Given the description of an element on the screen output the (x, y) to click on. 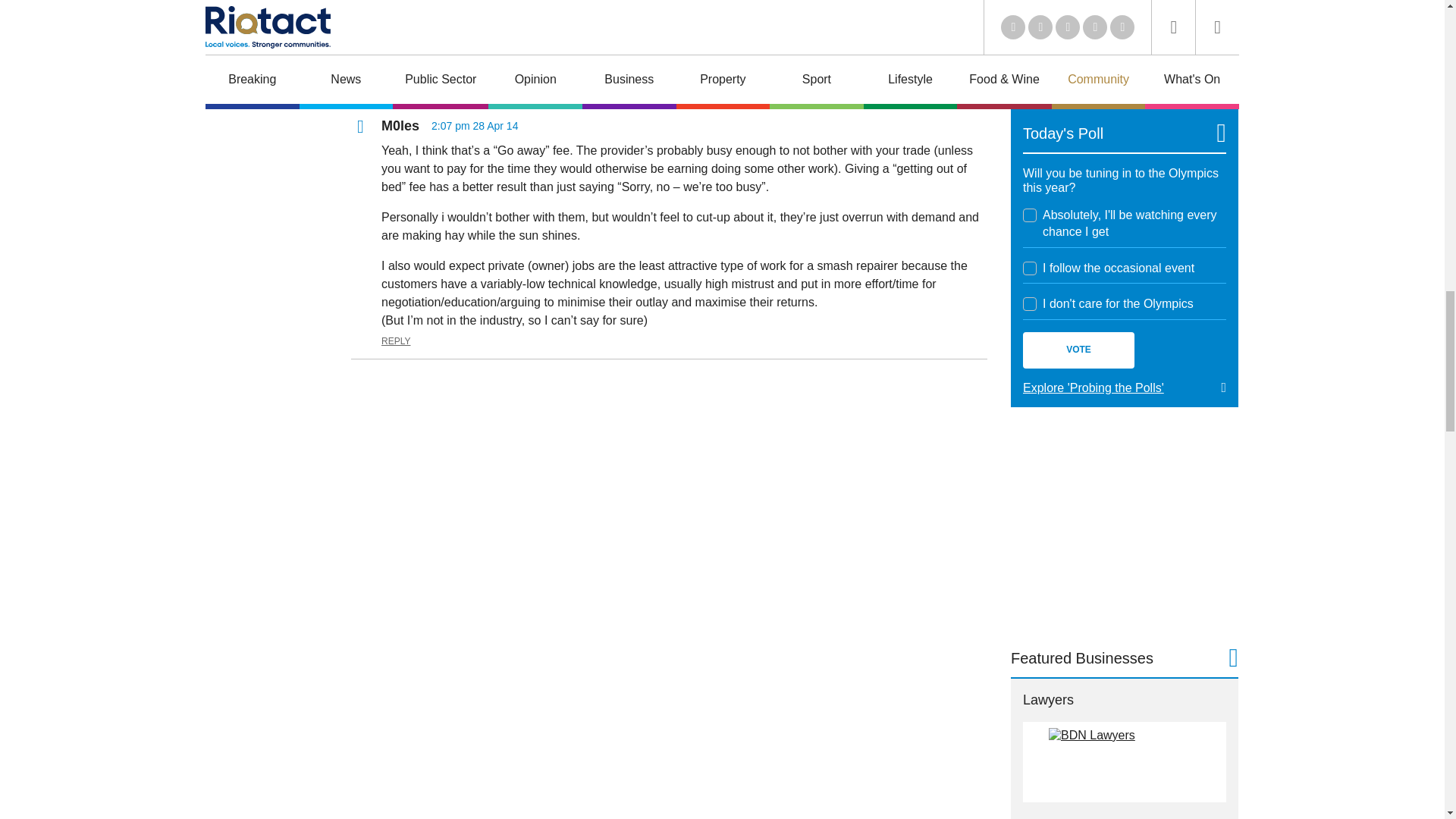
2044 (1029, 268)
Zango Sales (1124, 42)
2043 (1029, 214)
2045 (1029, 304)
   Vote    (1078, 350)
